Given the description of an element on the screen output the (x, y) to click on. 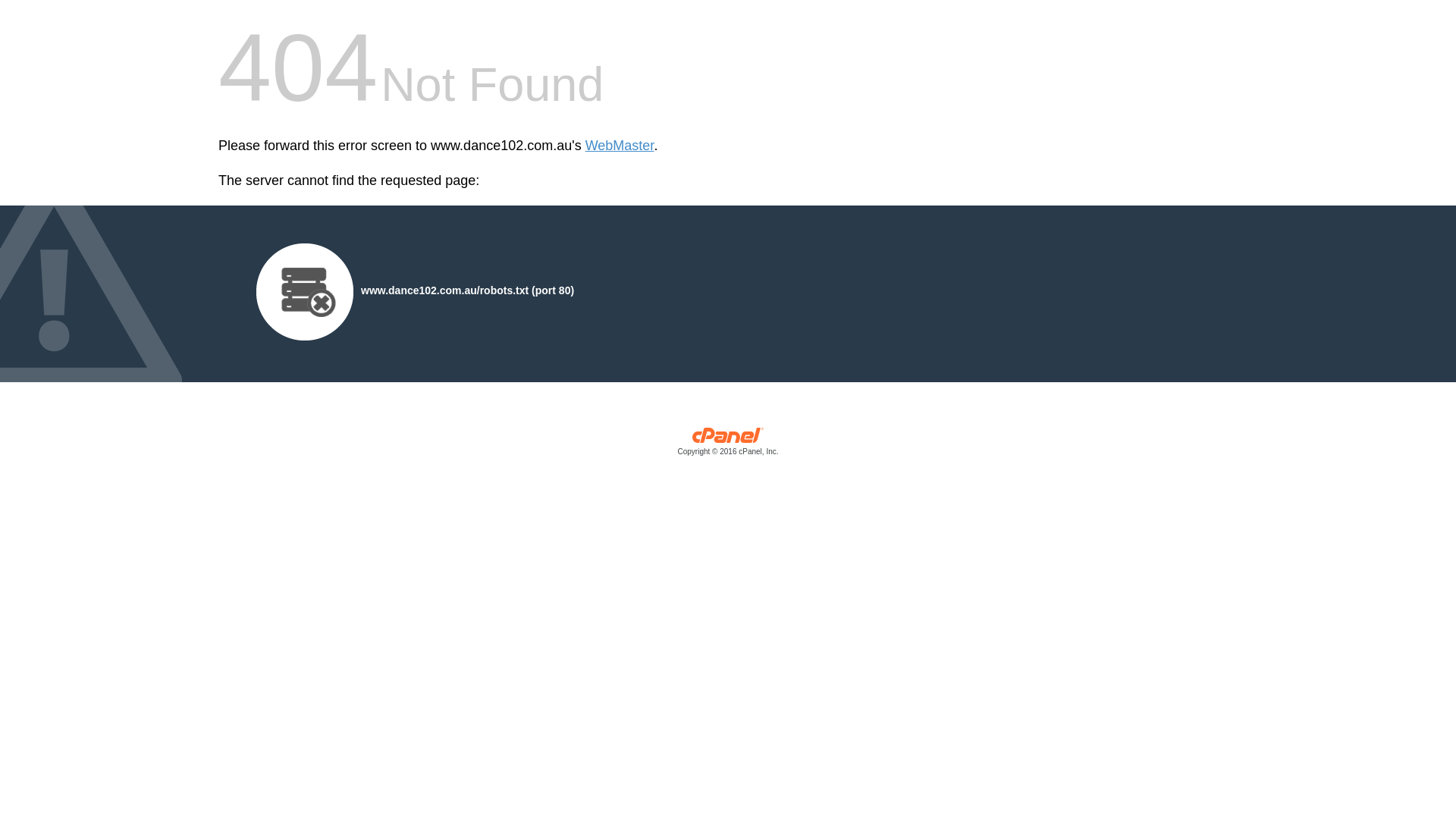
WebMaster Element type: text (619, 145)
